Given the description of an element on the screen output the (x, y) to click on. 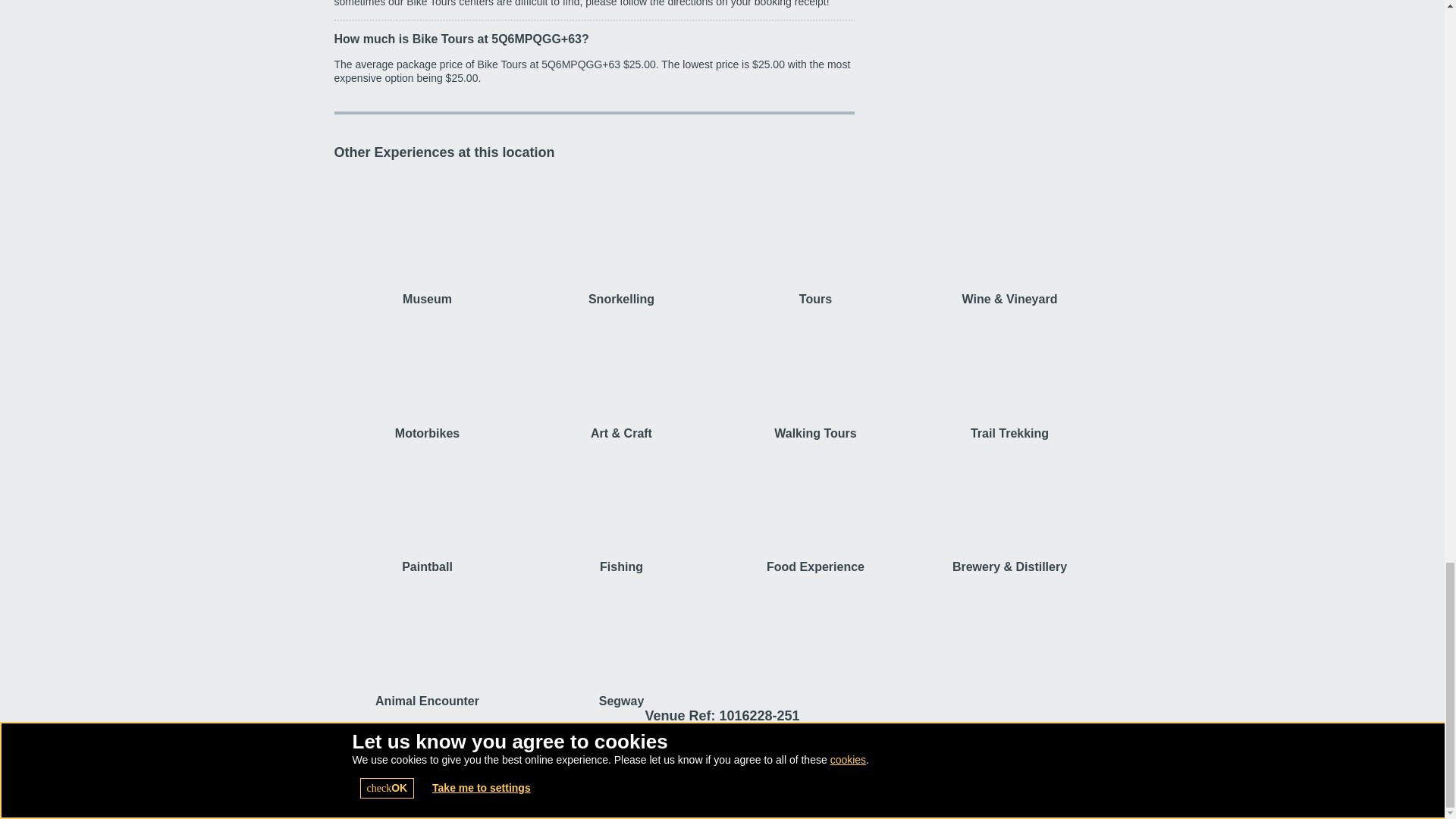
Paintball (426, 507)
Walking Tours details, packages (815, 373)
Snorkelling (620, 238)
Motorbikes details, packages (426, 373)
Motorbikes (426, 373)
Trail Trekking details, packages (1008, 373)
Tours details, packages (815, 238)
Museum (426, 238)
Snorkelling details, packages (620, 238)
Museum details, packages (426, 238)
